Given the description of an element on the screen output the (x, y) to click on. 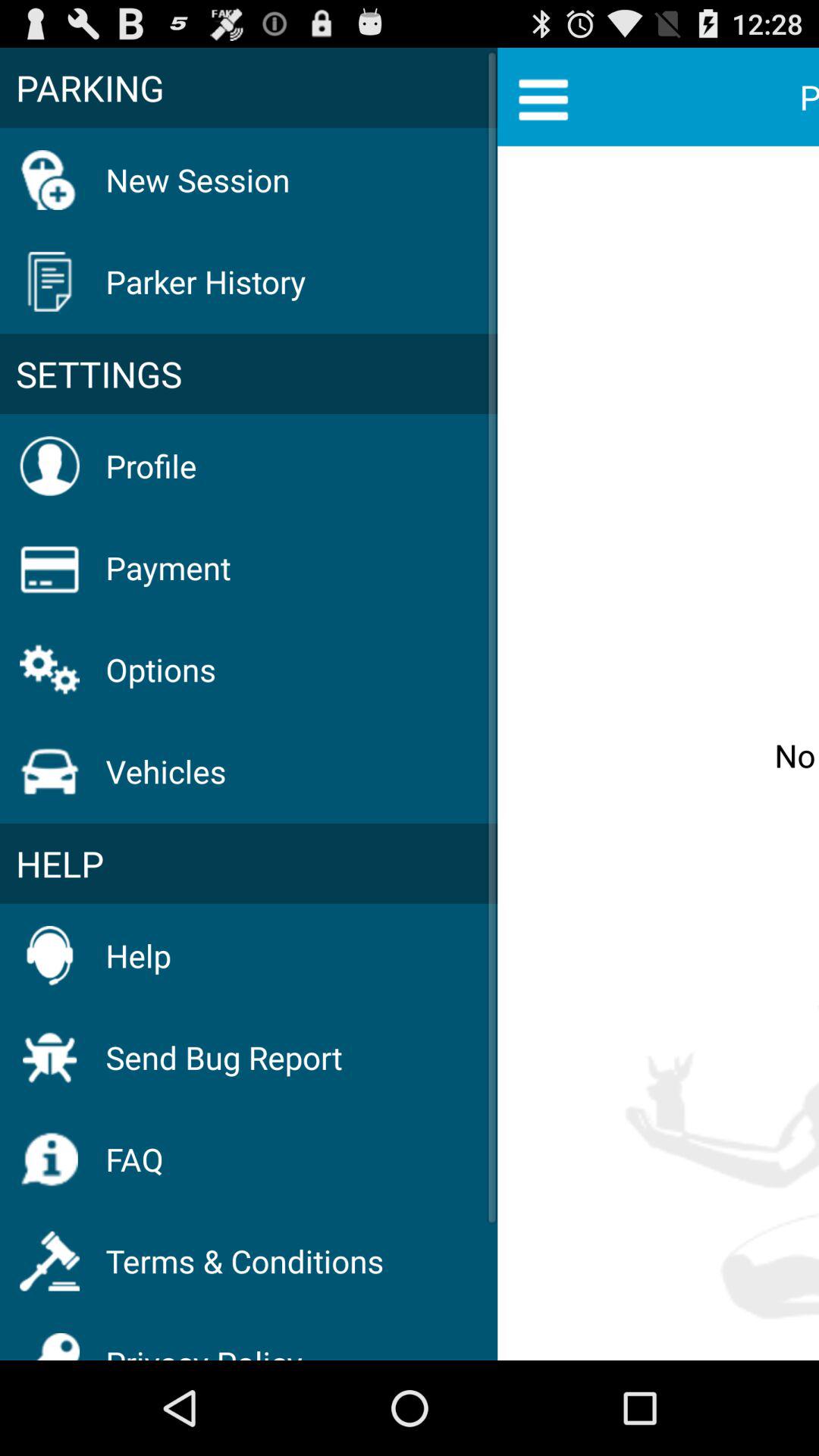
open terms & conditions (244, 1260)
